Given the description of an element on the screen output the (x, y) to click on. 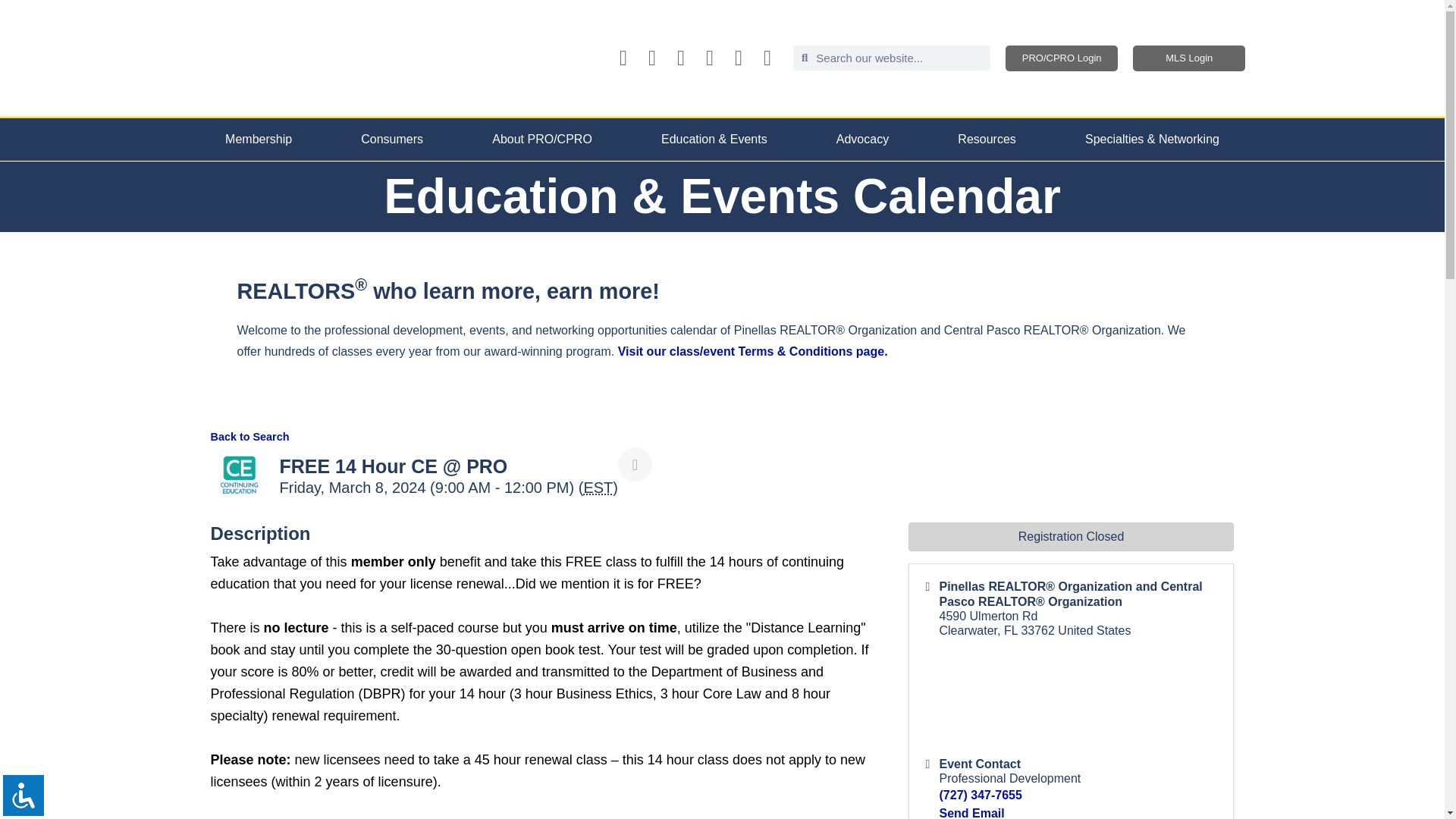
Membership (257, 138)
PROCPRO on Youtube (680, 57)
MLS Login (1188, 58)
PROCPRO on LinkedIn (709, 57)
Log into your Stellar MLS account (1188, 58)
PROCPRO on Facebook (622, 57)
Consumers (392, 138)
Local Real Estate Market Stats (767, 57)
